Given the description of an element on the screen output the (x, y) to click on. 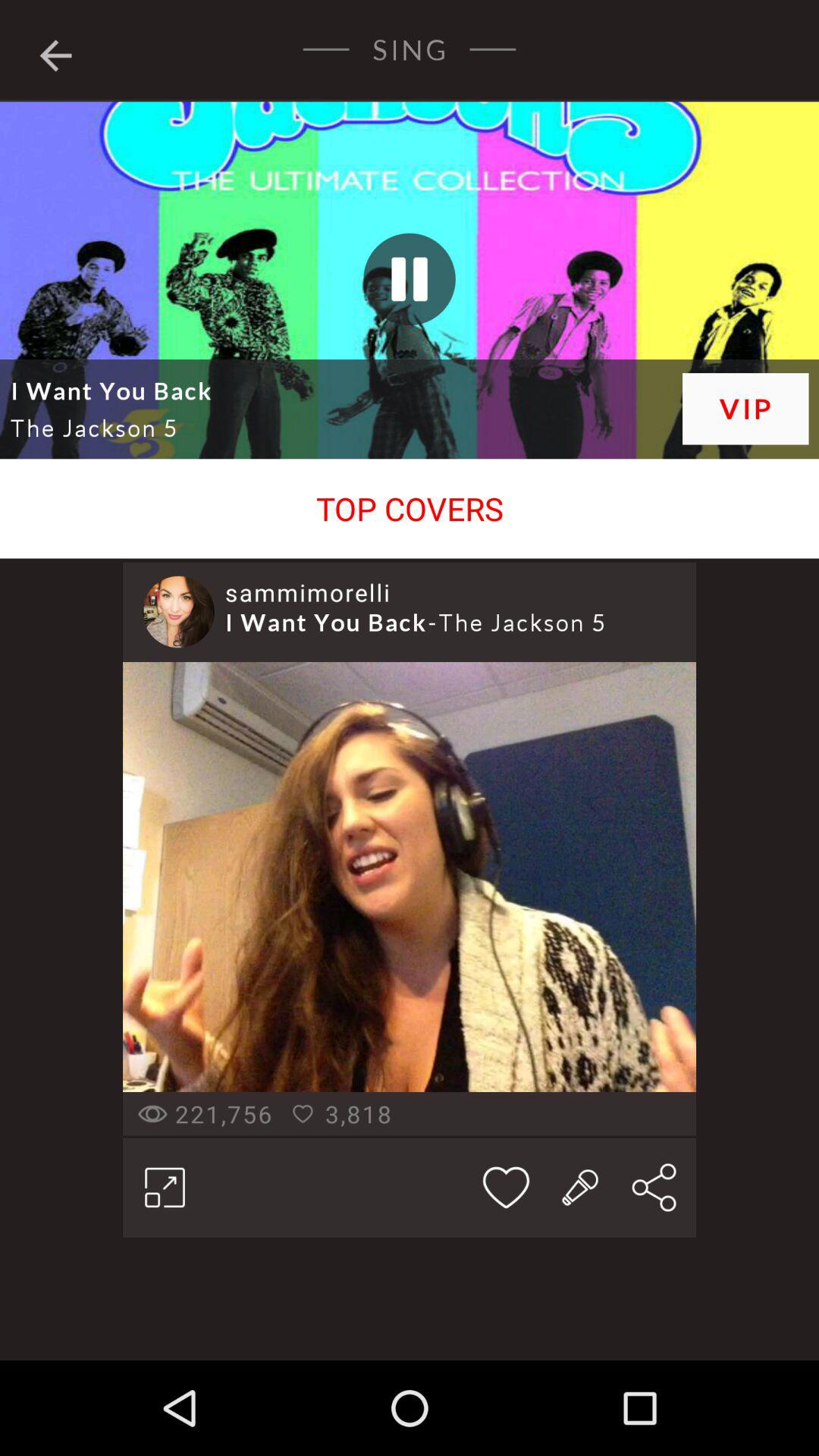
select the item below the top covers item (178, 611)
